Given the description of an element on the screen output the (x, y) to click on. 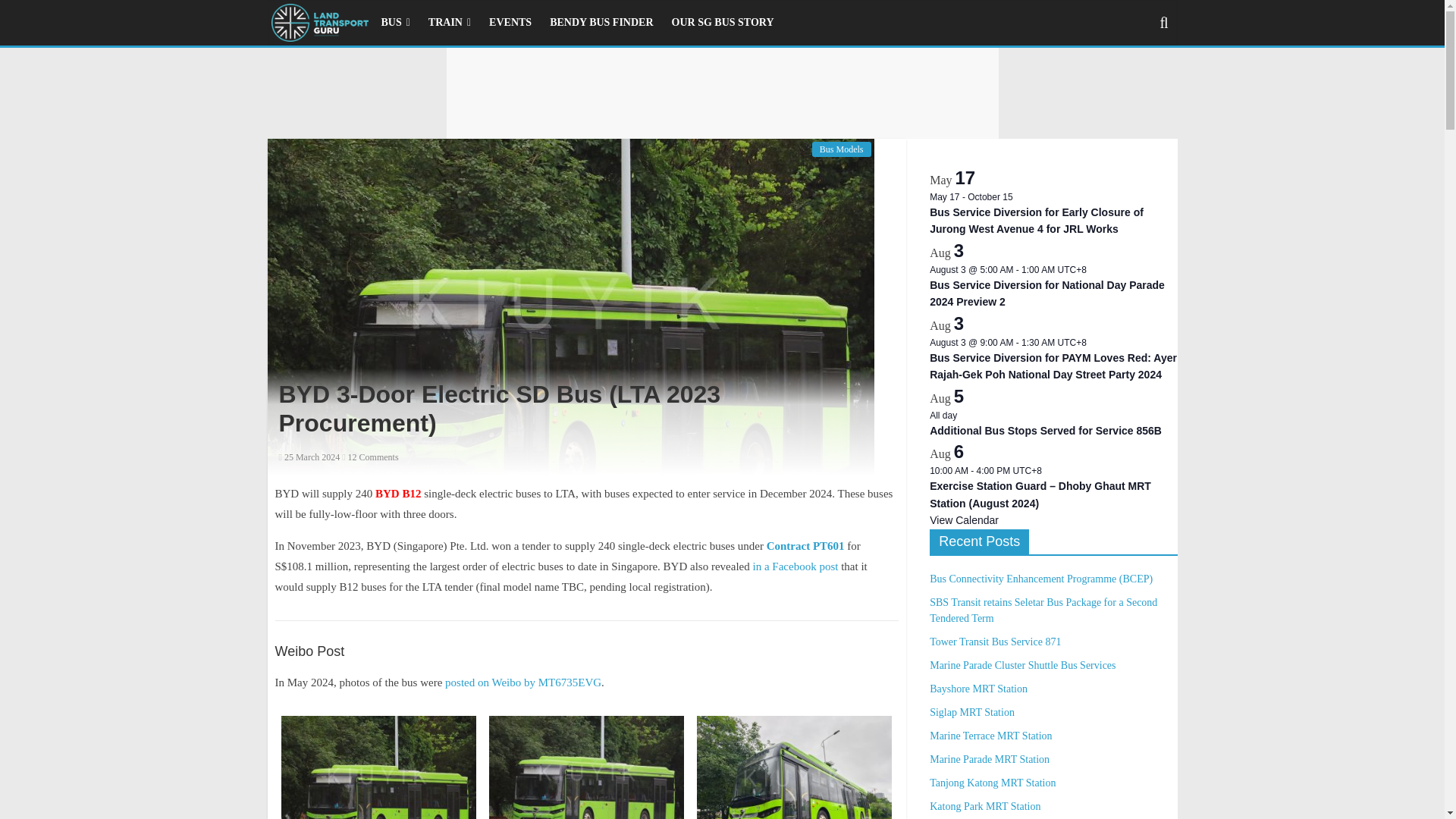
TRAIN (449, 22)
posted on Weibo by MT6735EVG (523, 682)
OUR SG BUS STORY (722, 22)
25 March 2024 (309, 457)
Contract PT601 (805, 545)
Bus Service Diversion for National Day Parade 2024 Preview 2 (1047, 294)
360 new 3-door electric buses procured by LTA (805, 545)
BENDY BUS FINDER (601, 22)
